Given the description of an element on the screen output the (x, y) to click on. 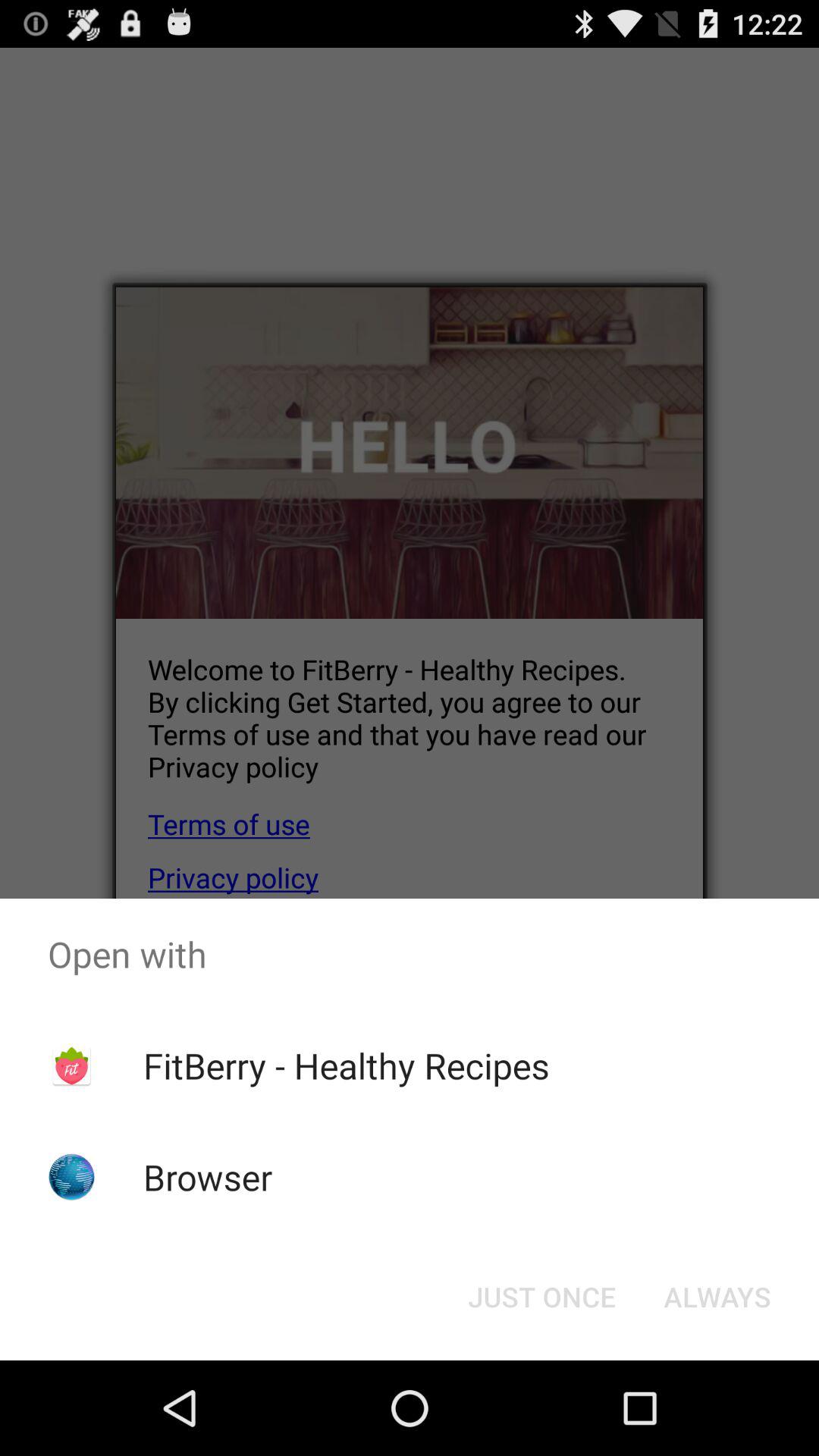
press the app above the browser item (346, 1065)
